Given the description of an element on the screen output the (x, y) to click on. 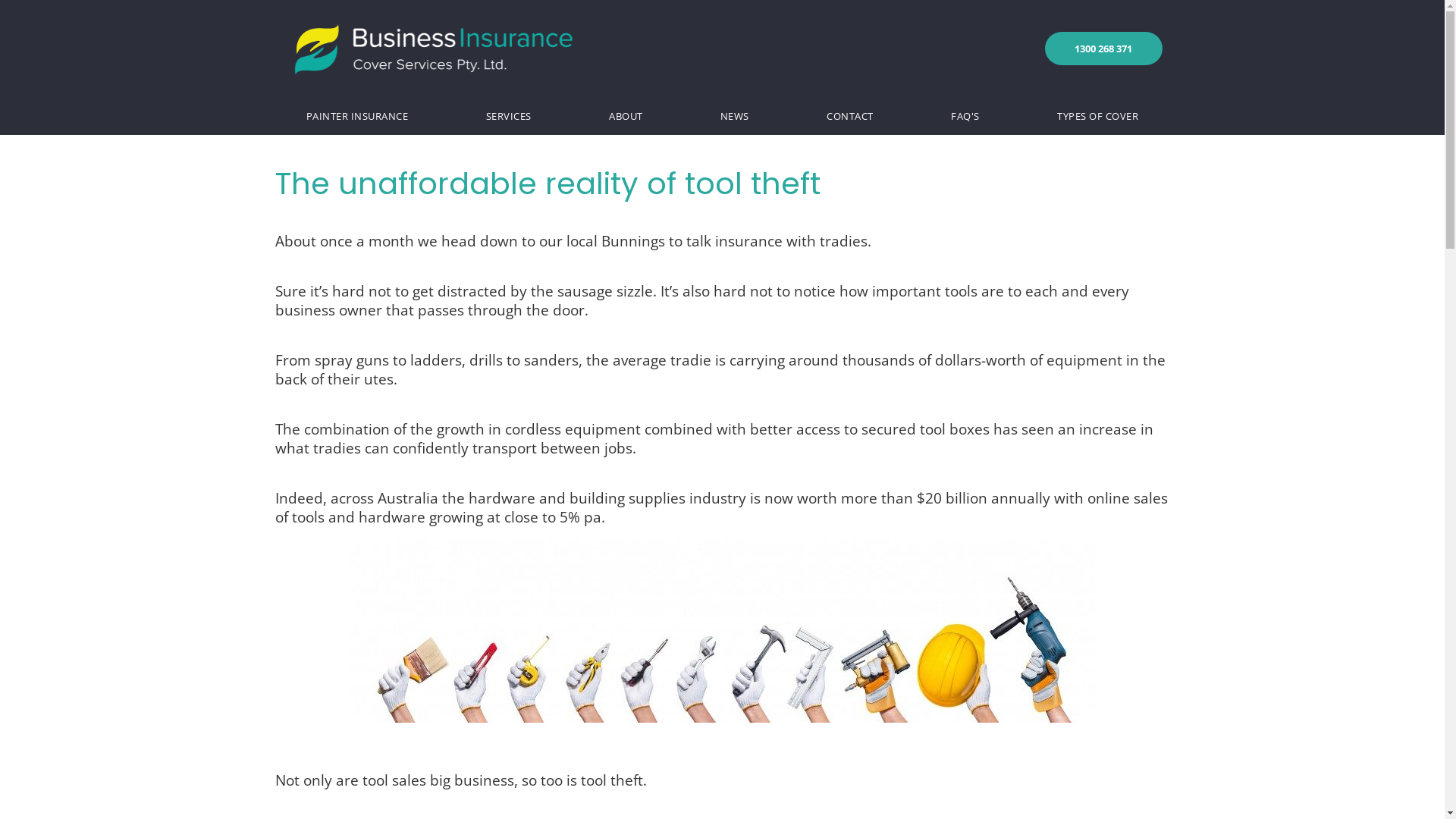
FAQ'S Element type: text (965, 115)
TYPES OF COVER Element type: text (1097, 115)
NEWS Element type: text (734, 115)
1300 268 371 Element type: text (1103, 48)
ABOUT Element type: text (625, 115)
CONTACT Element type: text (849, 115)
SERVICES Element type: text (507, 115)
PAINTER INSURANCE Element type: text (356, 115)
